Given the description of an element on the screen output the (x, y) to click on. 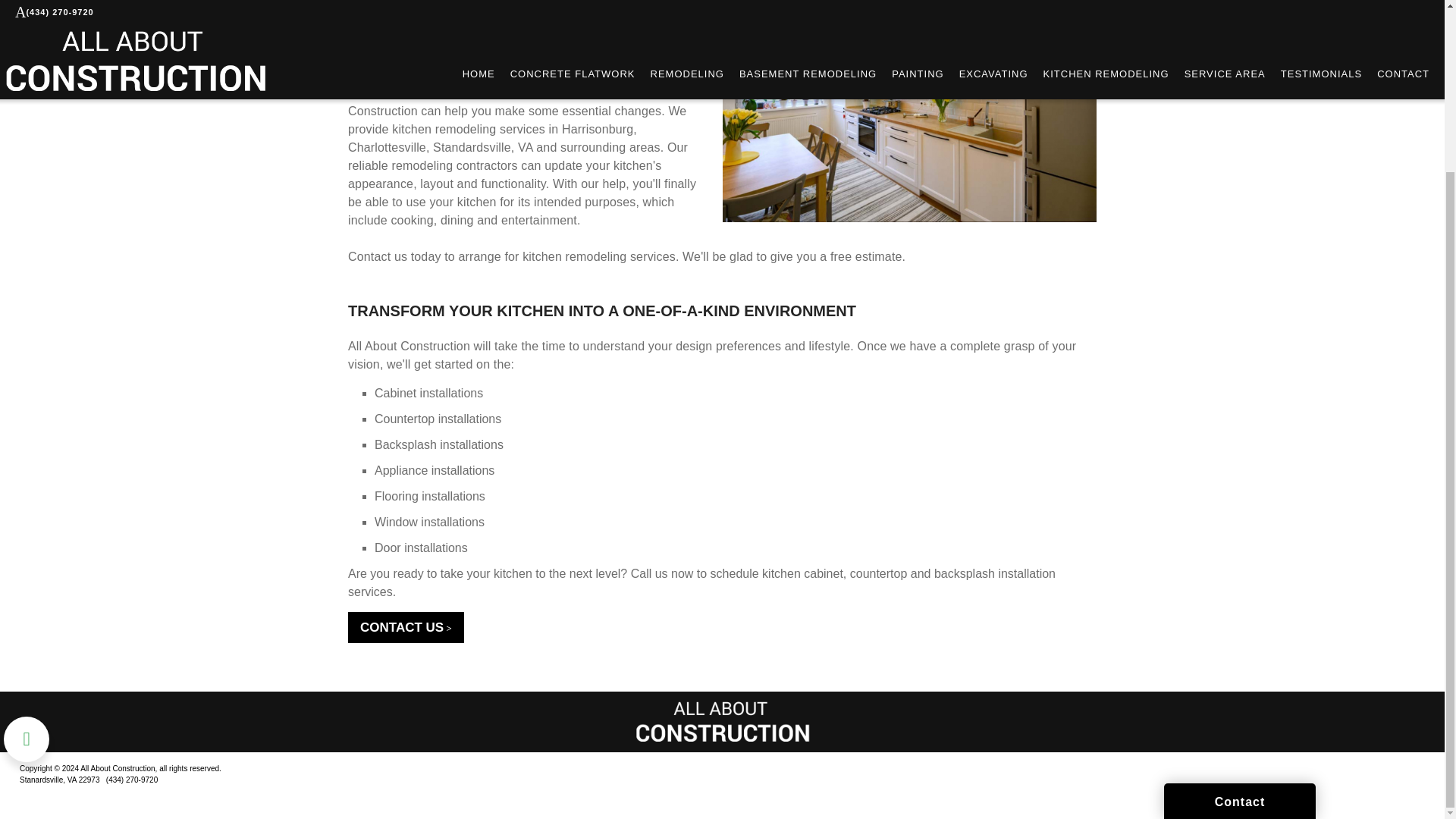
CONTACT US (405, 626)
Contact (1239, 592)
All About Construction (722, 721)
